Given the description of an element on the screen output the (x, y) to click on. 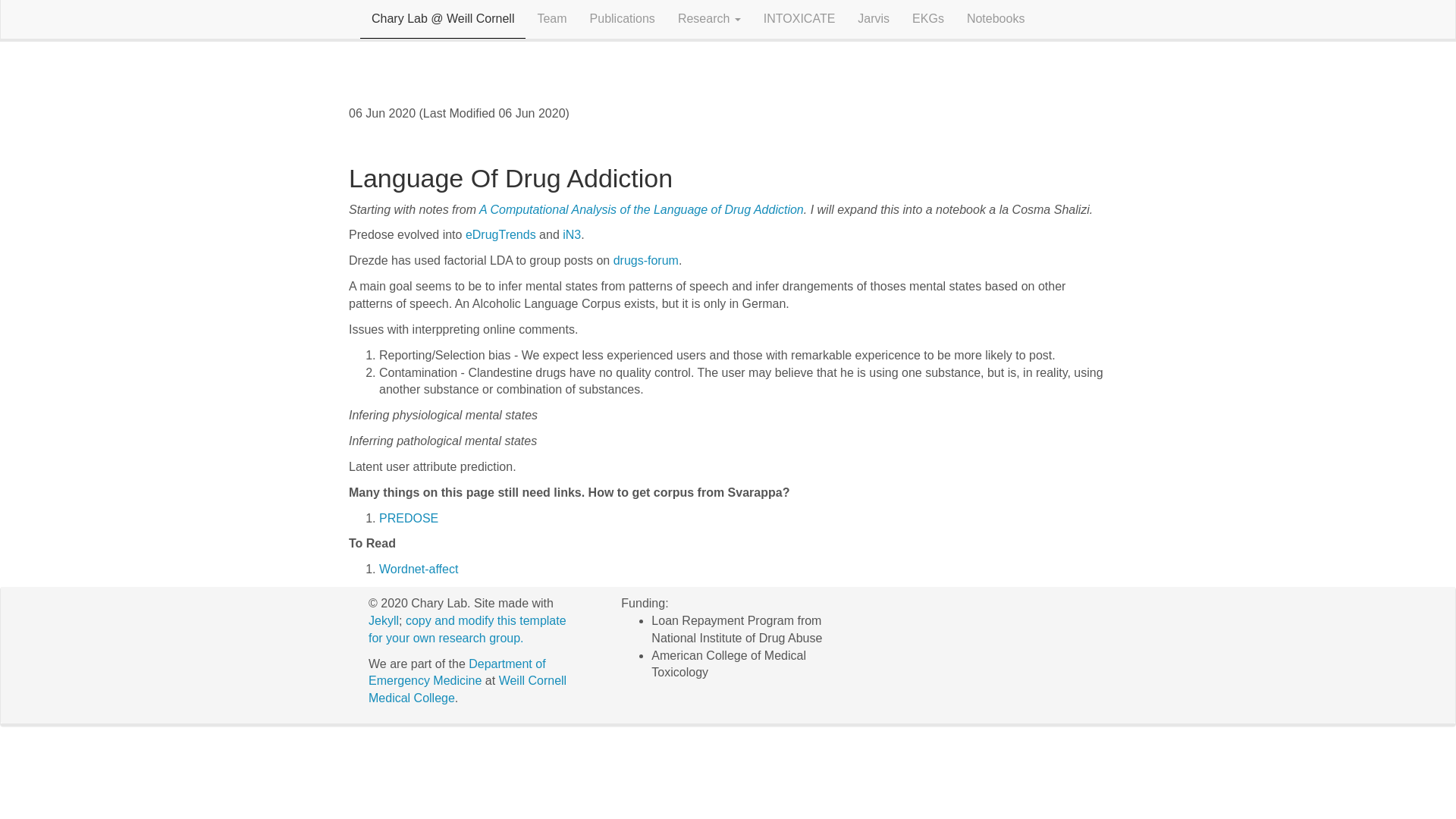
Team (551, 18)
A Computational Analysis of the Language of Drug Addiction (641, 209)
Wordnet-affect (418, 568)
copy and modify this template for your own research group. (467, 629)
Publications (622, 18)
eDrugTrends (500, 234)
Jekyll (383, 620)
Jarvis (873, 18)
Department of Emergency Medicine (457, 672)
Weill Cornell Medical College (467, 689)
